Given the description of an element on the screen output the (x, y) to click on. 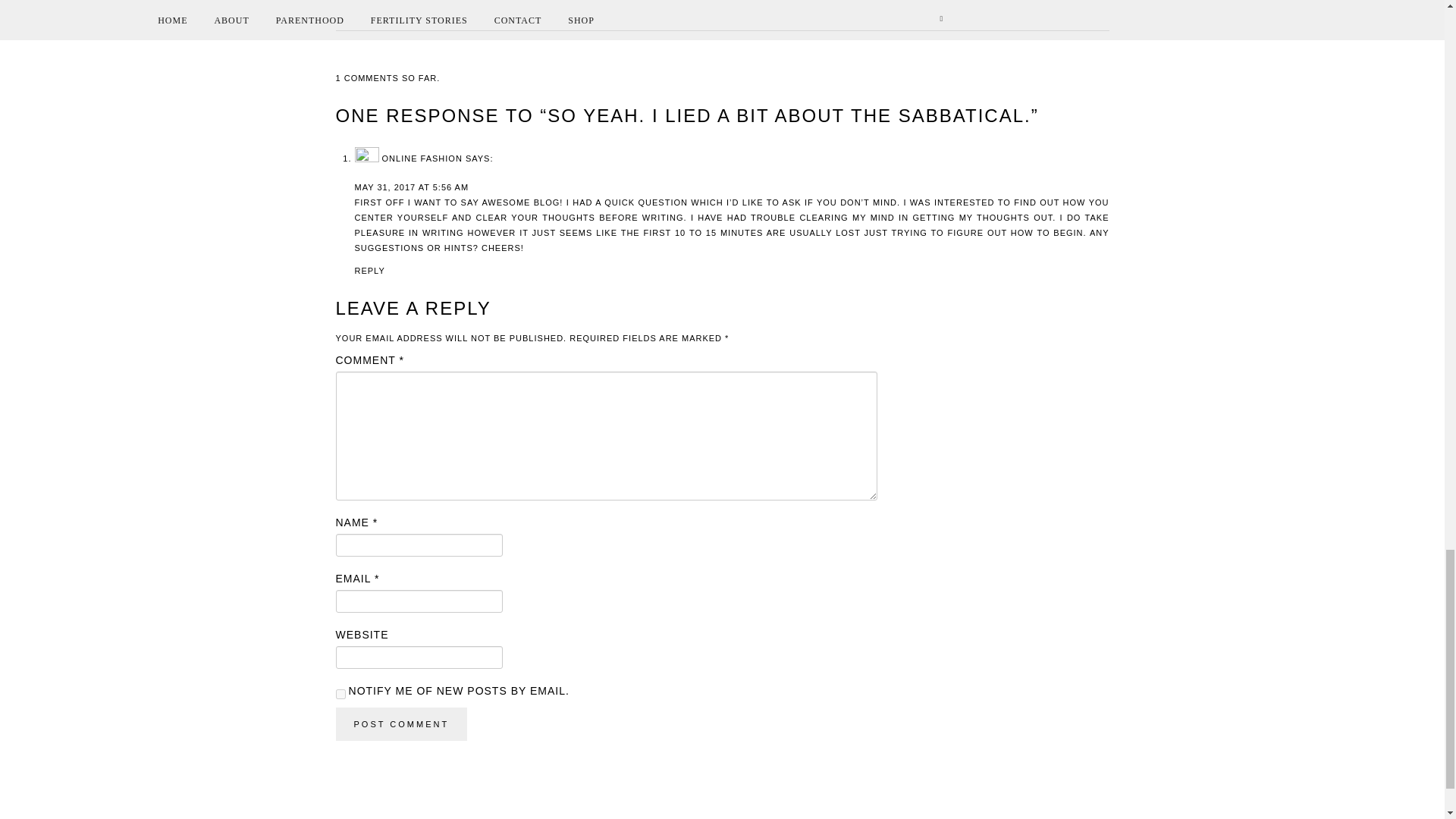
subscribe (339, 694)
Post Comment (400, 724)
ONLINE FASHION (422, 157)
Post Comment (400, 724)
REPLY (370, 270)
MAY 31, 2017 AT 5:56 AM (411, 186)
Share This On Facebook (383, 2)
COMMENTS SO FAR. (392, 77)
